Given the description of an element on the screen output the (x, y) to click on. 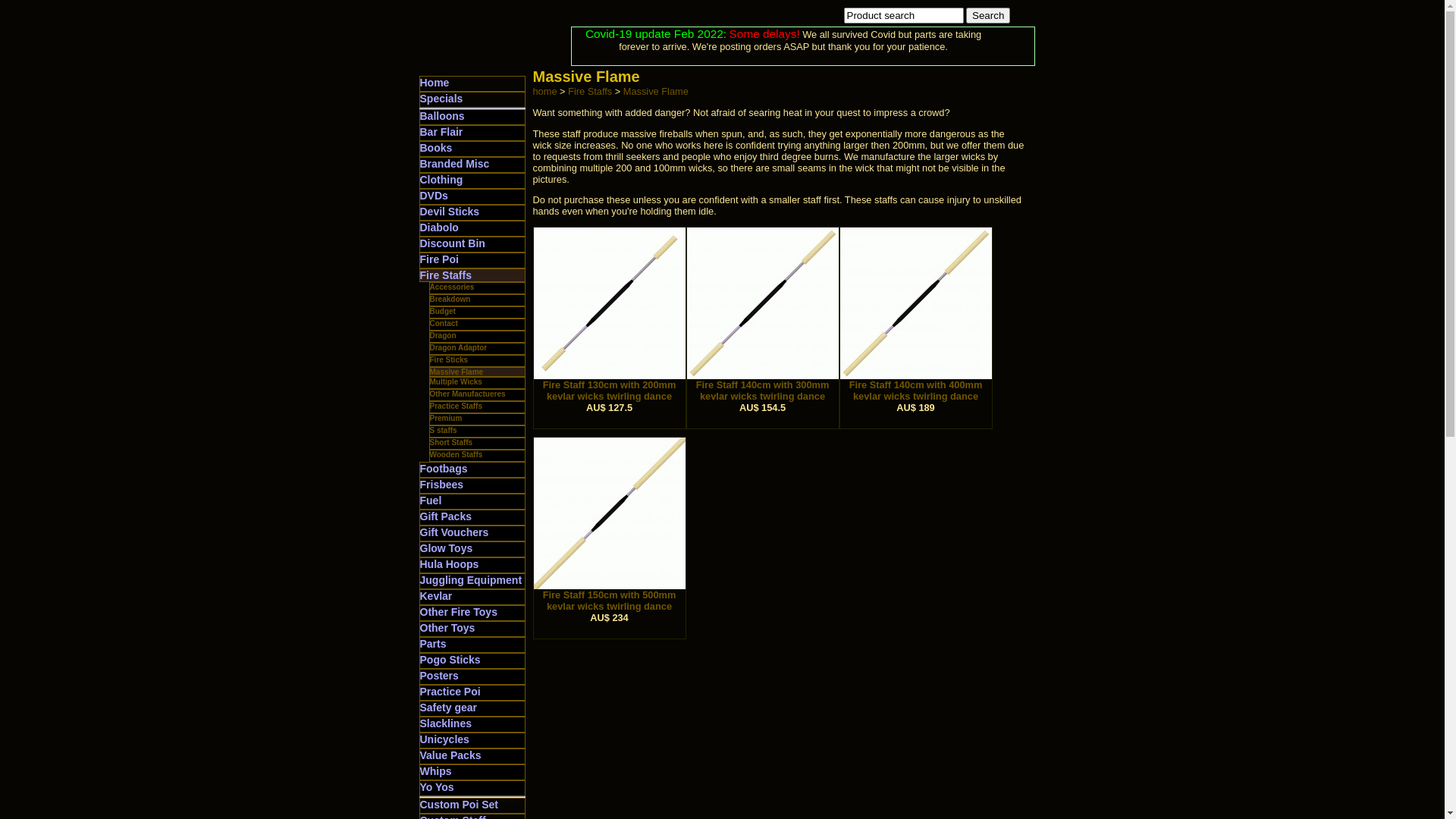
Massive Flame Element type: text (456, 371)
Kevlar Element type: text (436, 595)
Fire Sticks Element type: text (448, 359)
Fire Staff 140cm with 300mm kevlar wicks twirling dance Element type: text (762, 385)
Fire Staffs Element type: text (591, 91)
Fire Poi Element type: text (439, 259)
Gift Vouchers Element type: text (454, 532)
Branded Misc Element type: text (454, 163)
Other Manufactueres Element type: text (467, 393)
Other Fire Toys Element type: text (458, 611)
Wooden Staffs Element type: text (455, 454)
Discount Bin Element type: text (452, 243)
Massive Flame Element type: text (655, 91)
Juggling Equipment Element type: text (471, 580)
Budget Element type: text (442, 311)
Product search Element type: text (903, 15)
Practice Poi Element type: text (450, 691)
Short Staffs Element type: text (450, 442)
Devil Sticks Element type: text (450, 211)
Posters Element type: text (439, 675)
Value Packs Element type: text (450, 755)
S staffs Element type: text (442, 430)
Gift Packs Element type: text (445, 516)
Unicycles Element type: text (444, 739)
Parts Element type: text (433, 643)
Fuel Element type: text (431, 500)
Fire Staff 140cm with 400mm kevlar wicks twirling dance Element type: text (915, 385)
Accessories Element type: text (451, 286)
Premium Element type: text (445, 418)
Search Element type: text (988, 15)
Practice Staffs Element type: text (455, 405)
Specials Element type: text (441, 98)
Glow Toys Element type: text (446, 548)
Pogo Sticks Element type: text (450, 659)
Whips Element type: text (435, 771)
Clothing Element type: text (441, 179)
Fire Staff 130cm with 200mm kevlar wicks twirling dance Element type: text (609, 385)
Hula Hoops Element type: text (449, 564)
Breakdown Element type: text (449, 298)
Frisbees Element type: text (442, 484)
Custom Poi Set Element type: text (459, 804)
Yo Yos Element type: text (437, 787)
Safety gear Element type: text (448, 707)
Other Toys Element type: text (447, 627)
Dragon Adaptor Element type: text (457, 347)
DVDs Element type: text (434, 195)
Fire Staffs Element type: text (445, 275)
Contact Element type: text (443, 323)
Books Element type: text (436, 147)
Multiple Wicks Element type: text (455, 381)
Balloons Element type: text (442, 115)
Diabolo Element type: text (439, 227)
home Element type: text (544, 91)
Slacklines Element type: text (446, 723)
Footbags Element type: text (443, 468)
Fire Staff 150cm with 500mm kevlar wicks twirling dance Element type: text (609, 595)
Dragon Element type: text (442, 335)
Bar Flair Element type: text (441, 131)
Home Element type: text (434, 82)
